Given the description of an element on the screen output the (x, y) to click on. 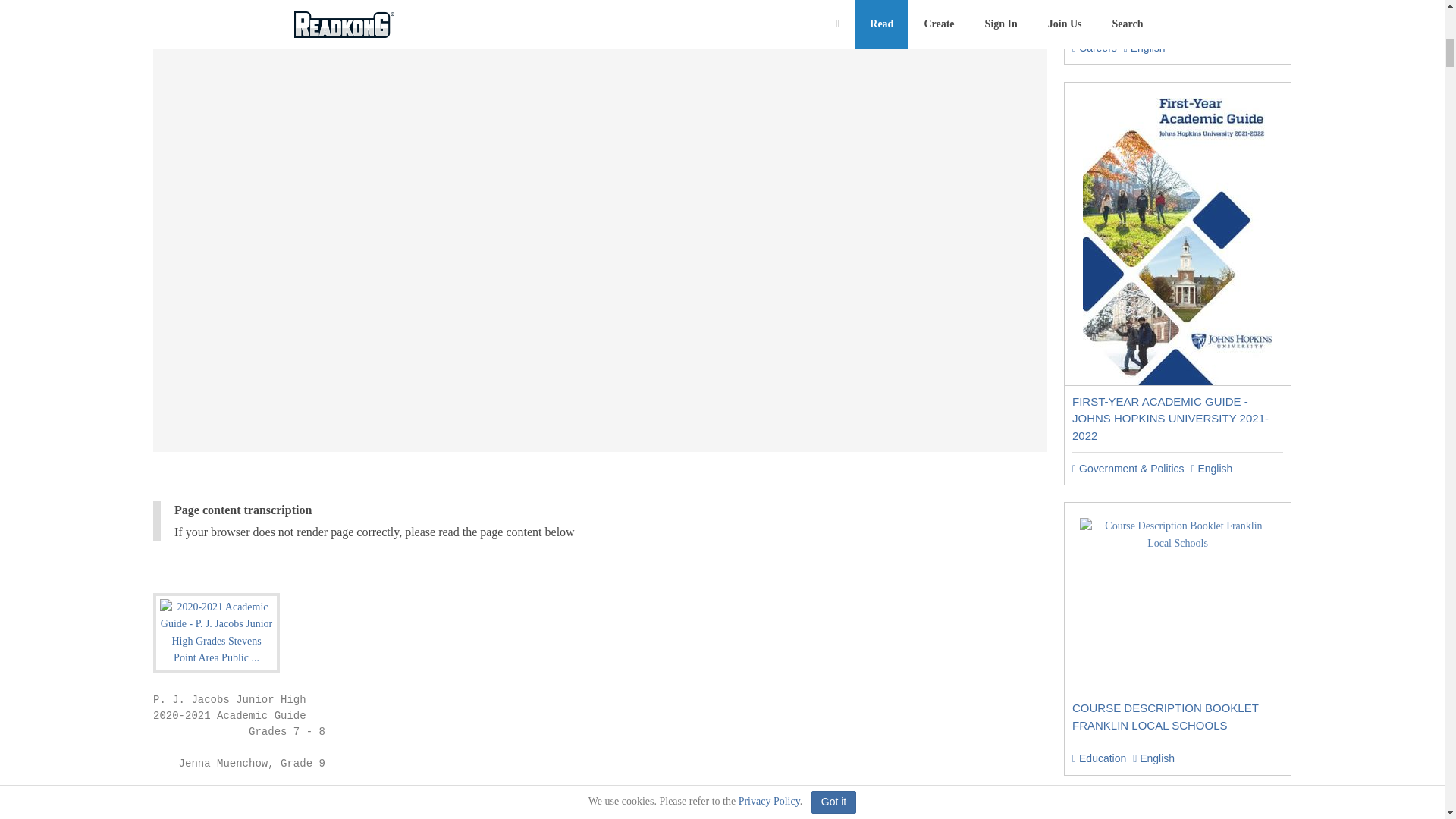
Careers (1093, 47)
COURSE DESCRIPTION BOOKLET FRANKLIN LOCAL SCHOOLS (1165, 716)
Advertisement (599, 13)
Education (1098, 758)
English (1153, 758)
English (1211, 468)
English (1145, 47)
